Given the description of an element on the screen output the (x, y) to click on. 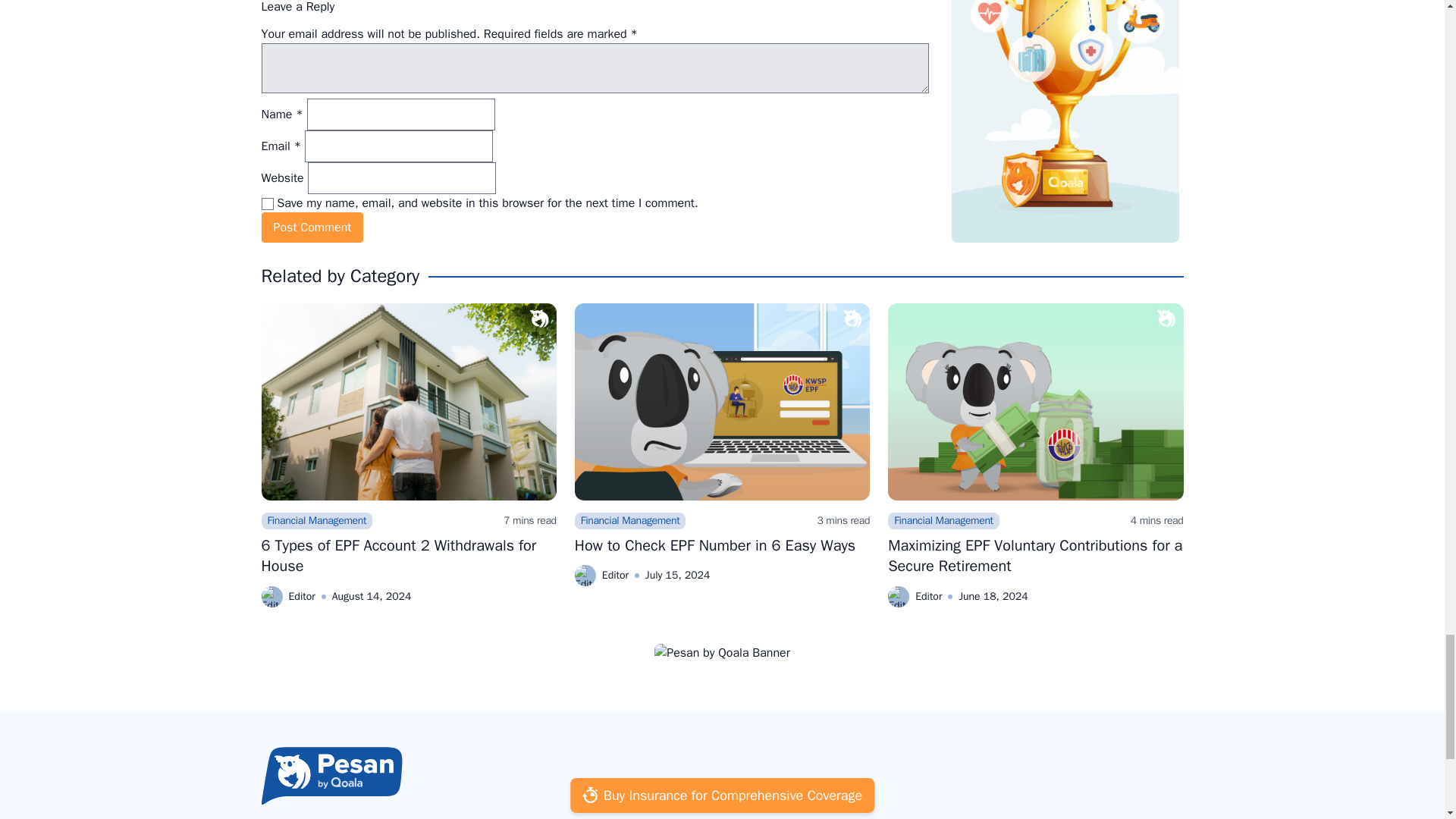
Post Comment (311, 227)
Post Comment (311, 227)
yes (266, 203)
